Given the description of an element on the screen output the (x, y) to click on. 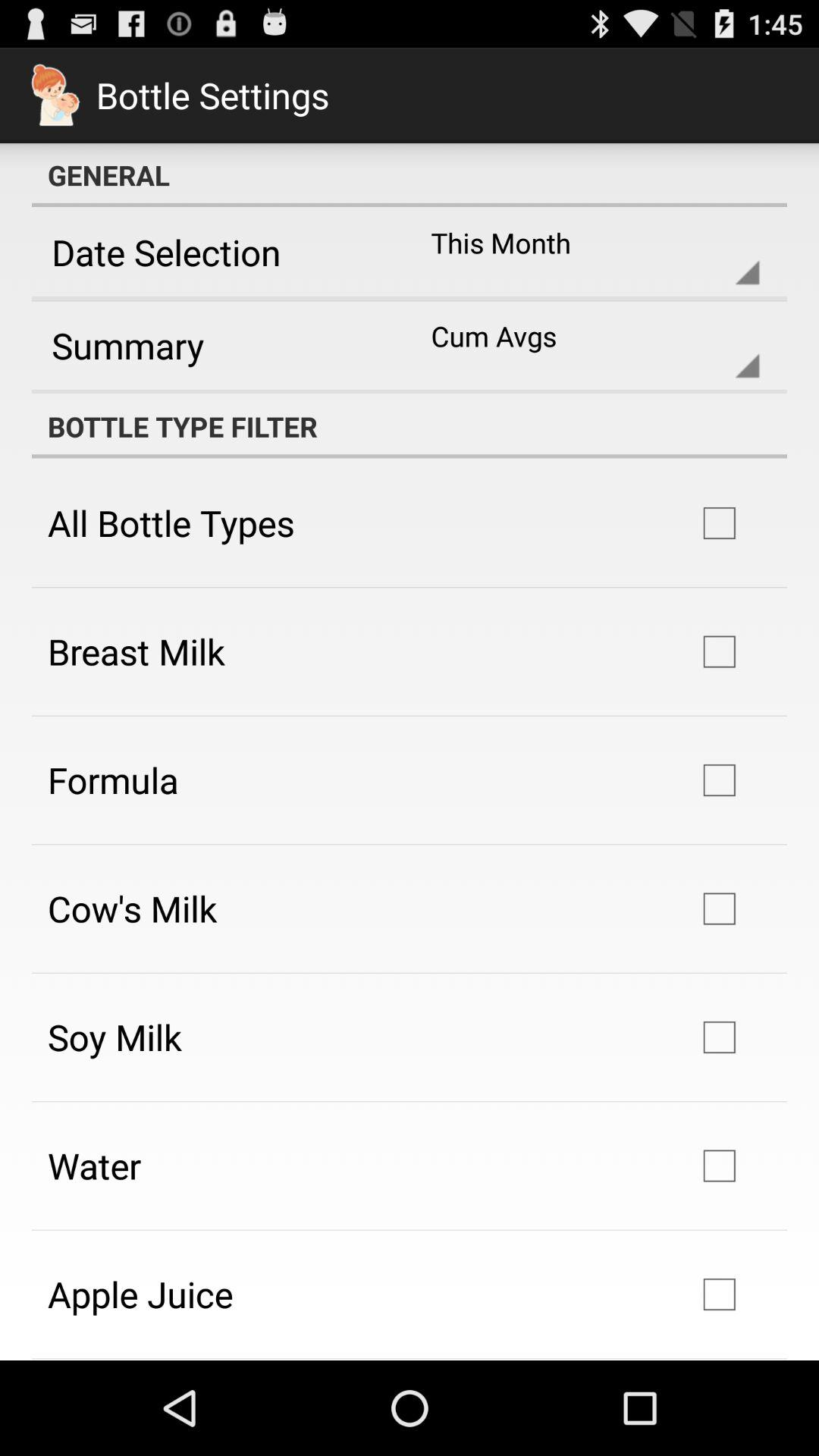
click item to the right of summary icon (583, 345)
